Given the description of an element on the screen output the (x, y) to click on. 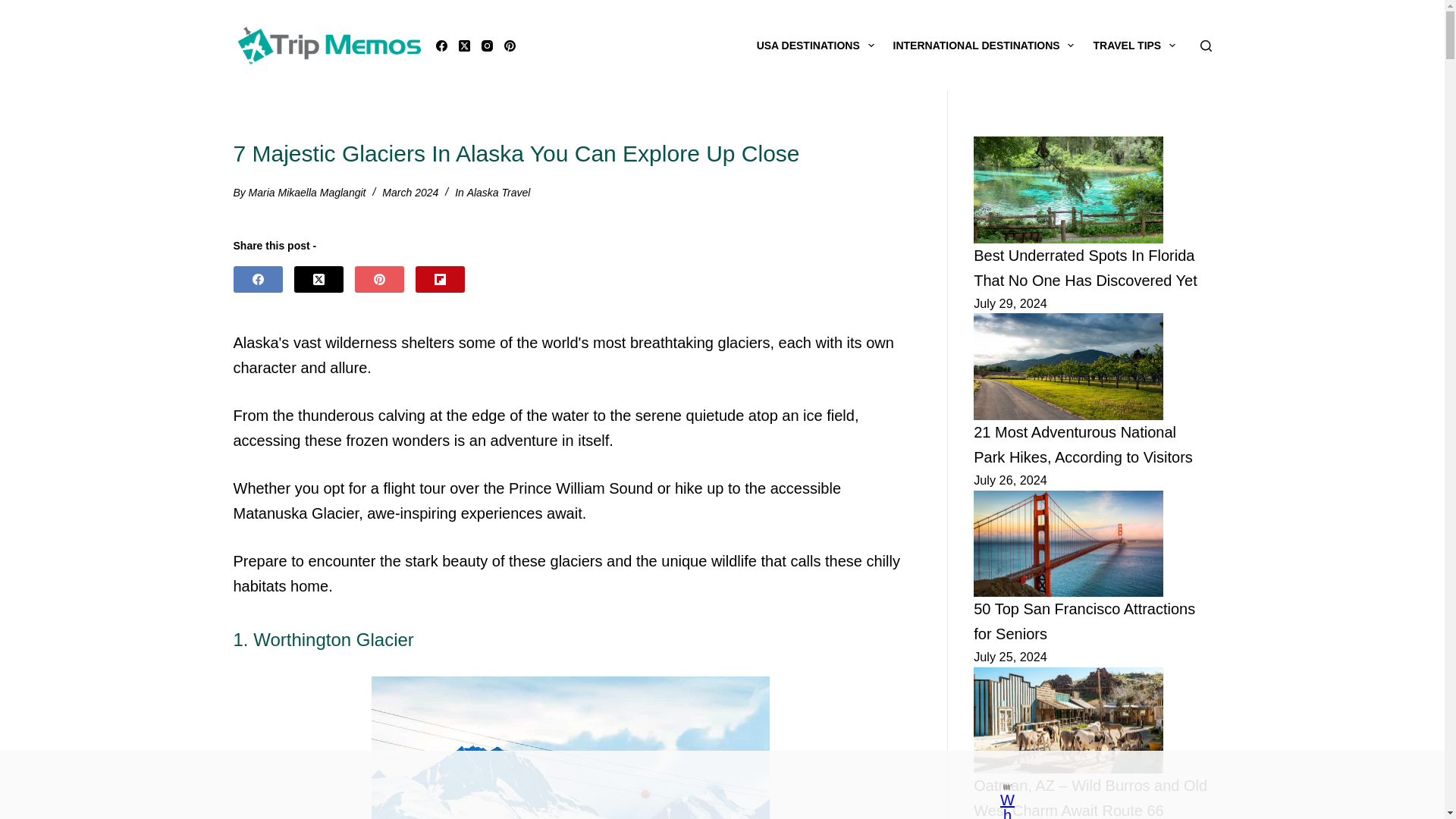
Skip to content (15, 7)
USA DESTINATIONS (814, 45)
INTERNATIONAL DESTINATIONS (983, 45)
International Destinations (983, 45)
